Given the description of an element on the screen output the (x, y) to click on. 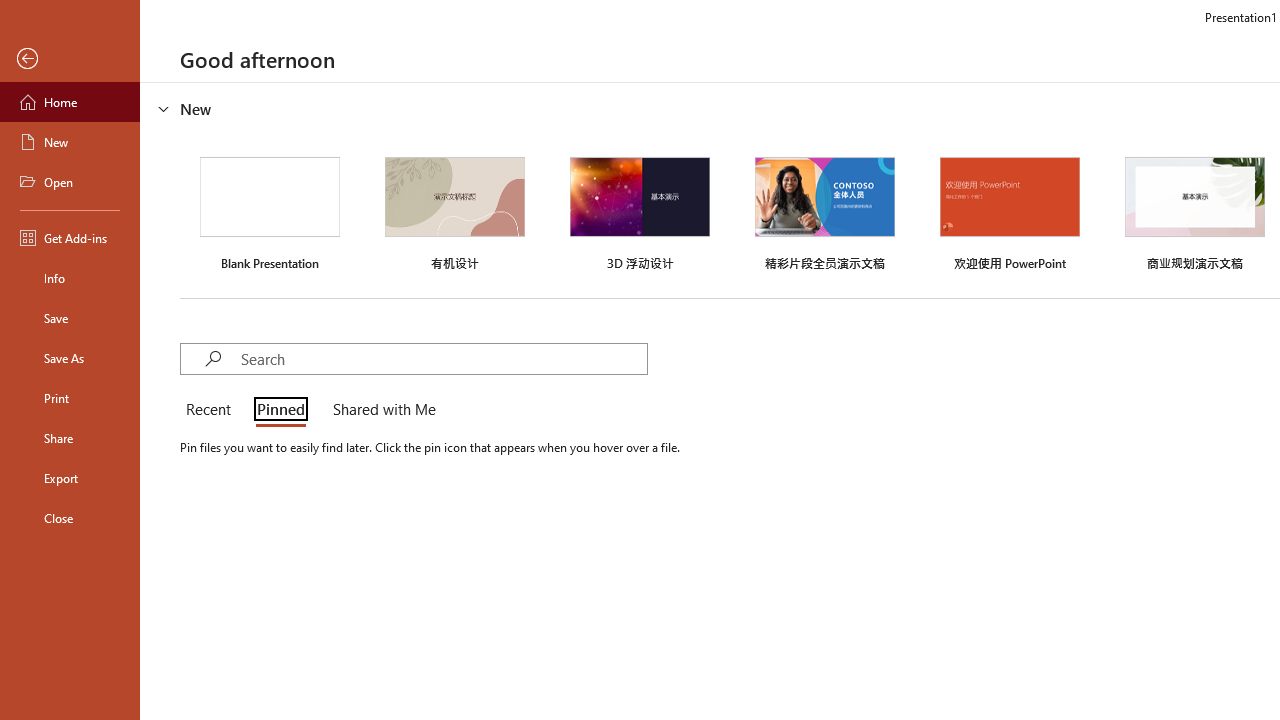
New (69, 141)
Shared with Me (379, 410)
Back (69, 59)
Hide or show region (164, 108)
Get Add-ins (69, 237)
